Given the description of an element on the screen output the (x, y) to click on. 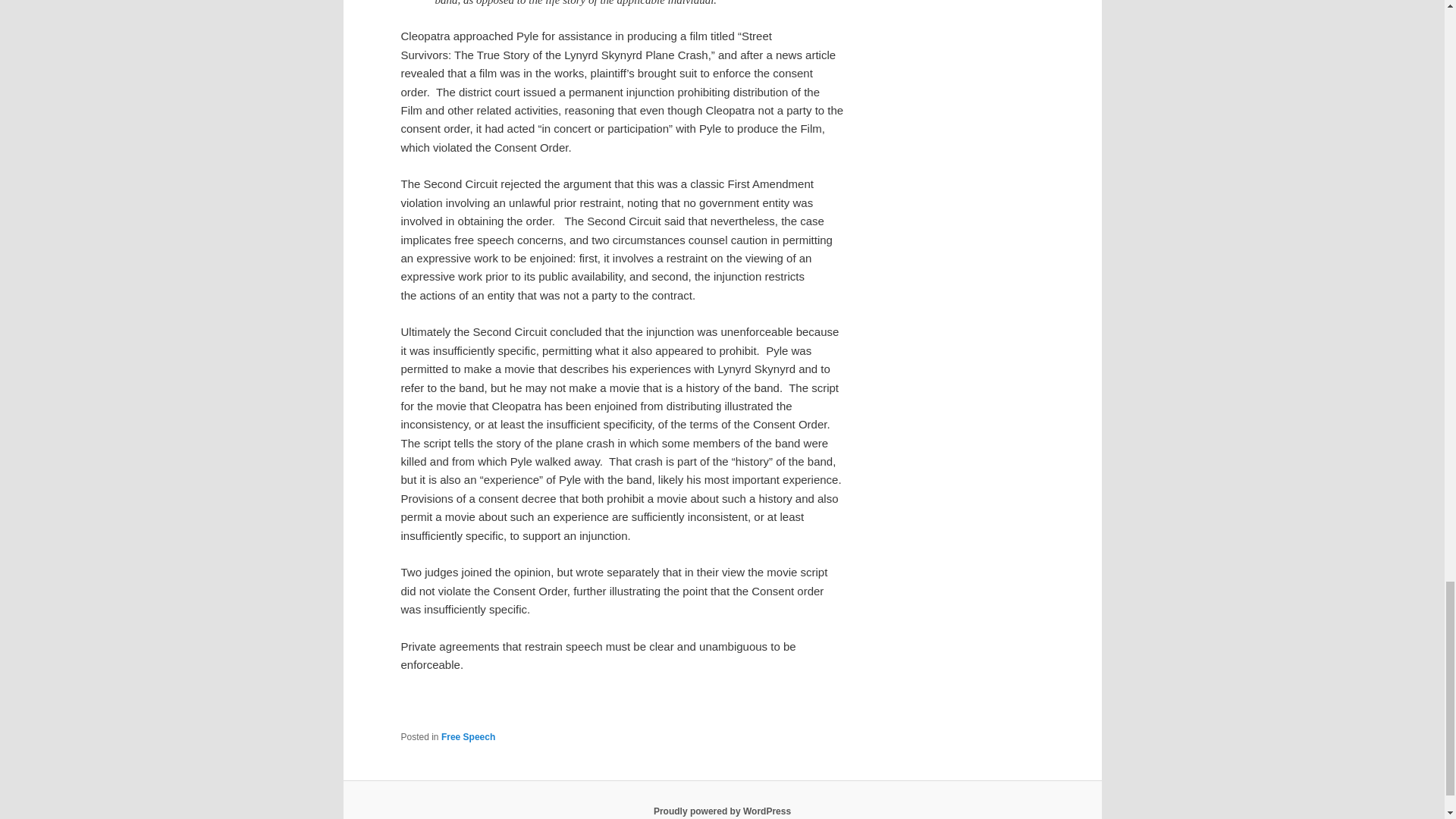
Semantic Personal Publishing Platform (721, 810)
Free Speech (468, 737)
